Given the description of an element on the screen output the (x, y) to click on. 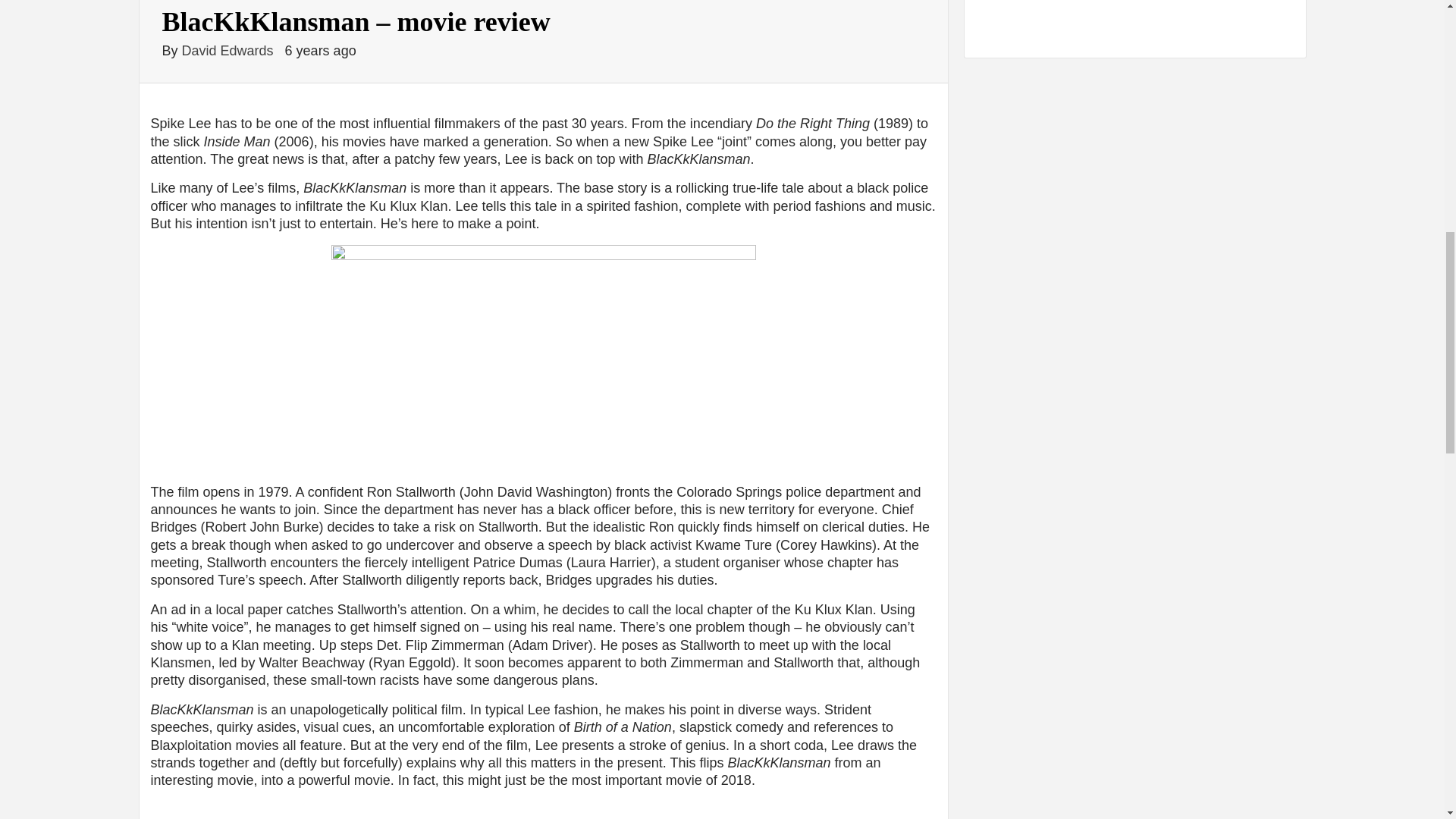
David Edwards (230, 50)
